Given the description of an element on the screen output the (x, y) to click on. 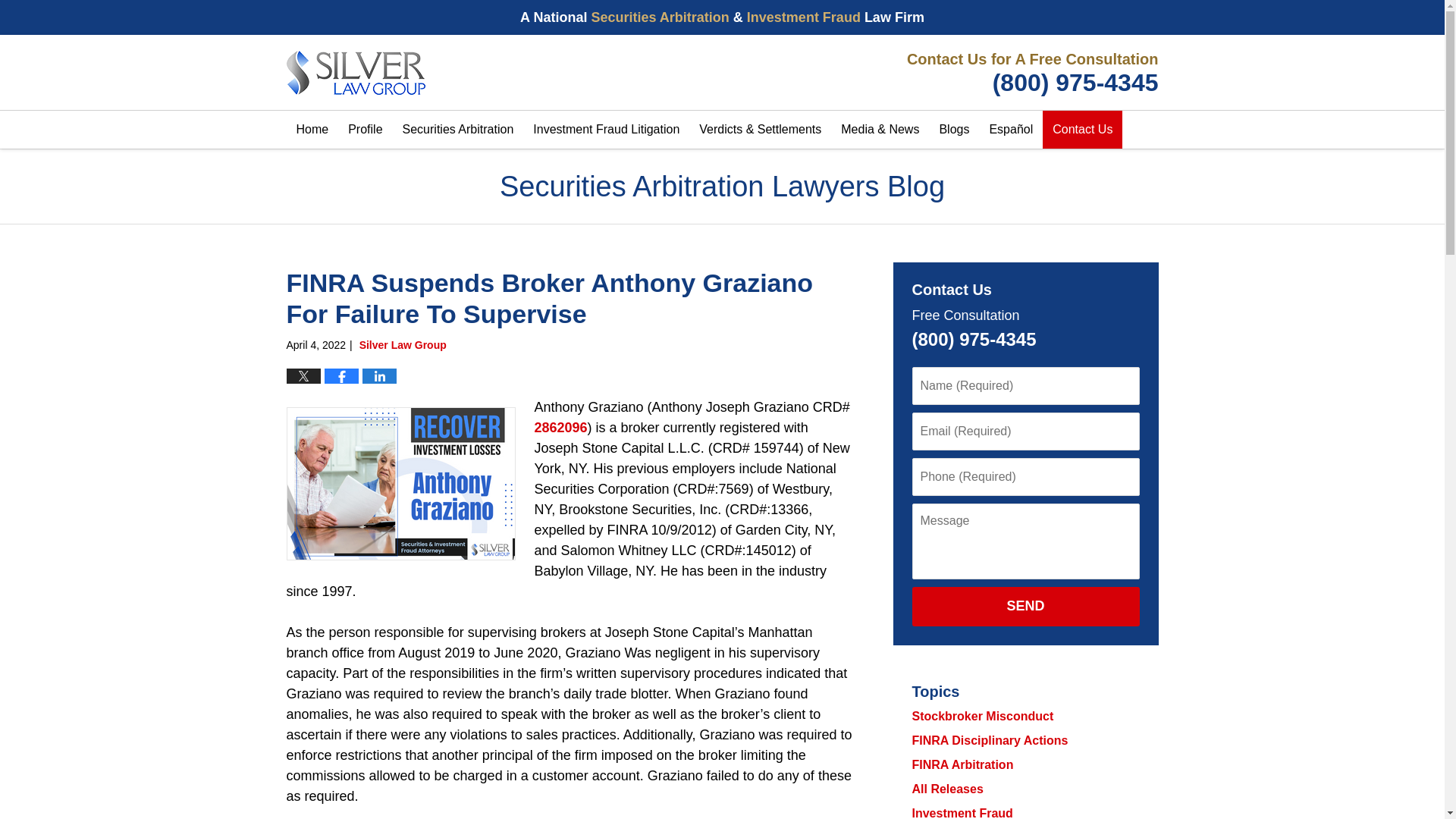
Profile (364, 129)
Securities Arbitration (458, 129)
Investment Fraud Litigation (605, 129)
Securities Arbitration Lawyers Blog (355, 72)
Blogs (953, 129)
Contact Us (1082, 129)
Silver Law Group (1028, 72)
Home (312, 129)
